Given the description of an element on the screen output the (x, y) to click on. 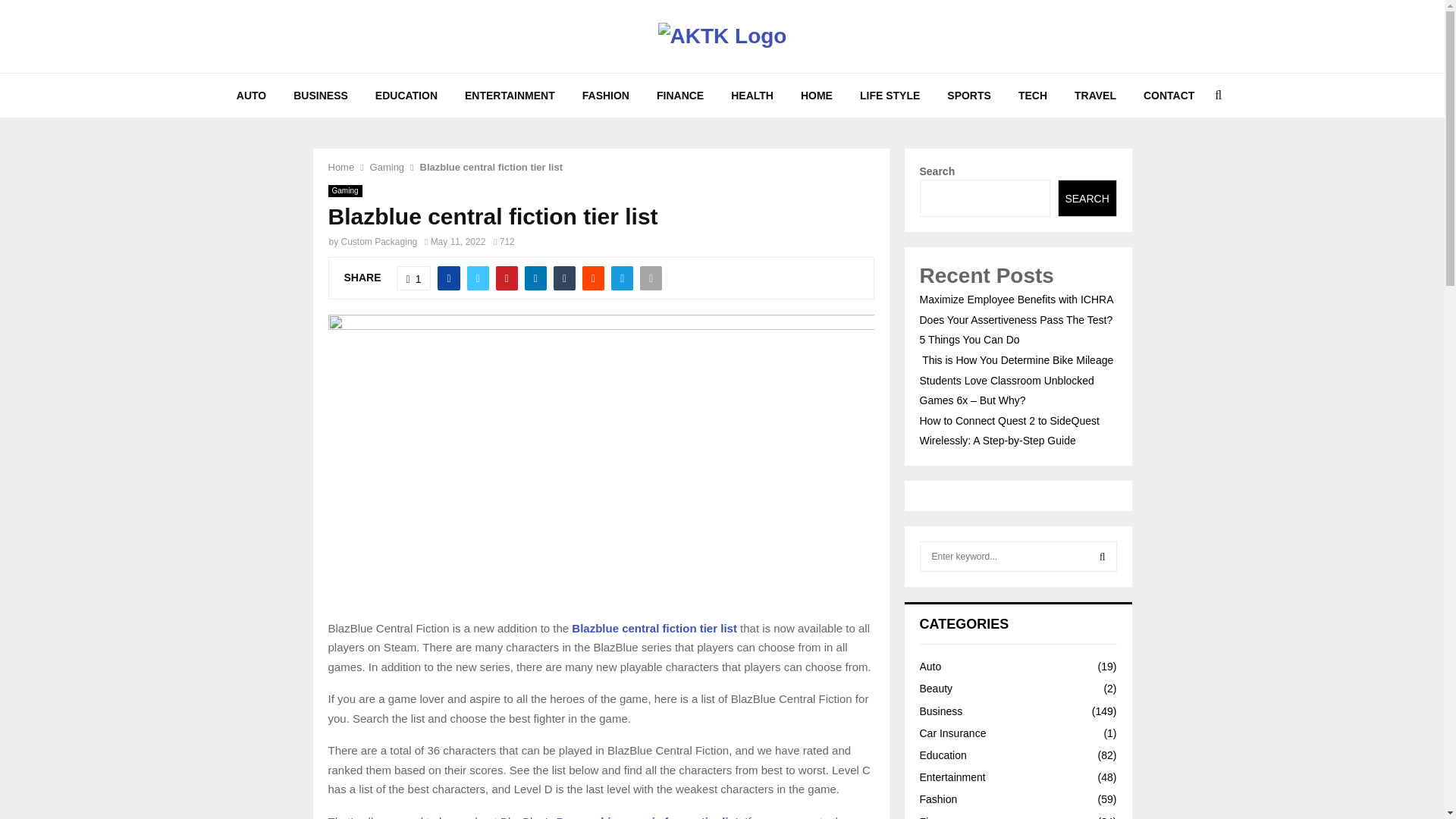
ENTERTAINMENT (510, 94)
LIFE STYLE (889, 94)
Like (413, 278)
FASHION (606, 94)
Custom Packaging (378, 241)
Home (340, 166)
HEALTH (752, 94)
CONTACT (1168, 94)
1 (413, 278)
Gaming (344, 191)
